Given the description of an element on the screen output the (x, y) to click on. 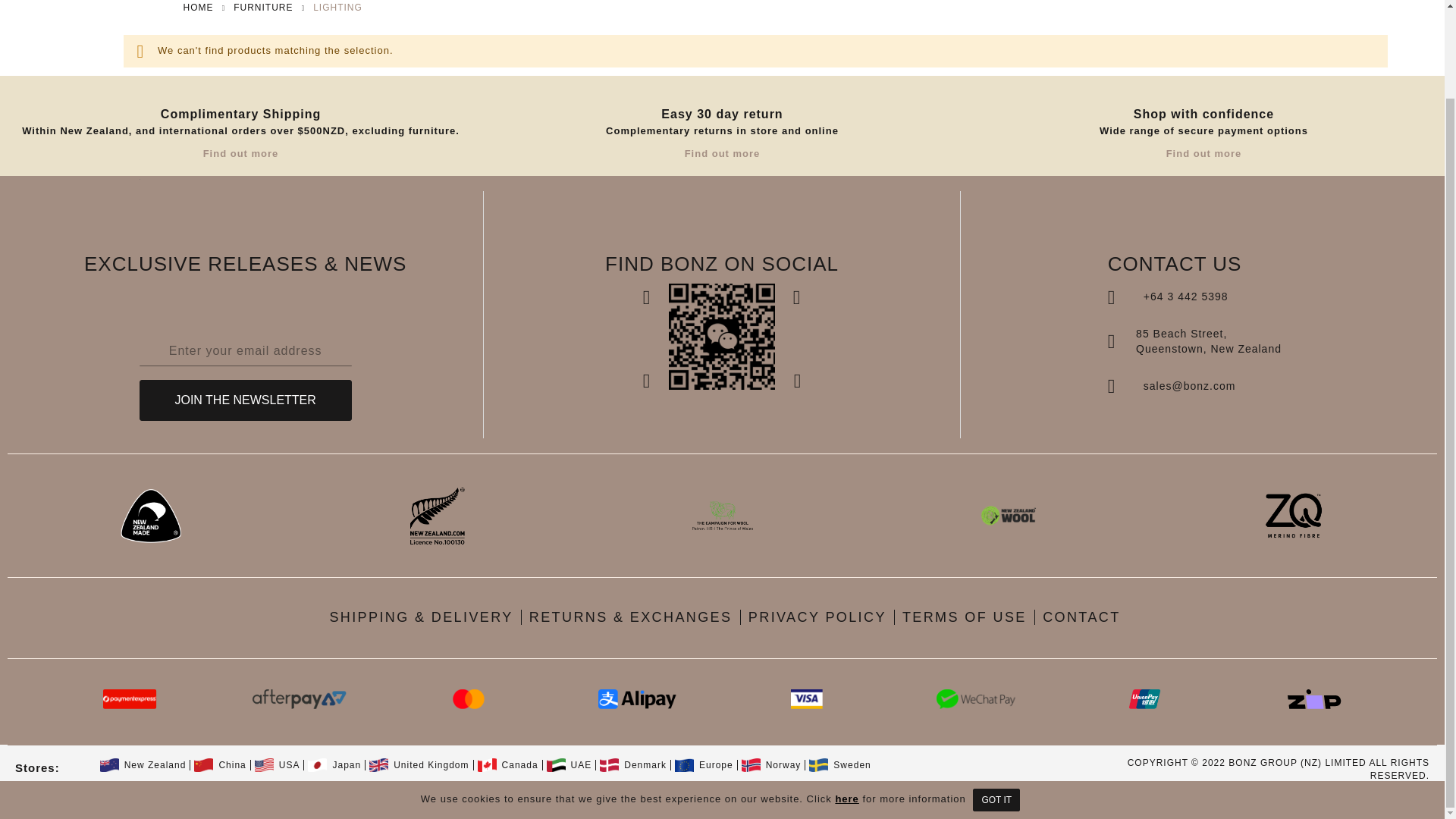
China (219, 765)
Terms of use (967, 616)
here (846, 697)
Privacy (819, 616)
Go to Home Page (198, 7)
Japan (334, 765)
Contact Us Bonz (1080, 616)
United Kingdom (418, 765)
USA (276, 765)
GOT IT (996, 698)
Canada (507, 765)
Subscribe (245, 400)
New Zealand (143, 765)
